Given the description of an element on the screen output the (x, y) to click on. 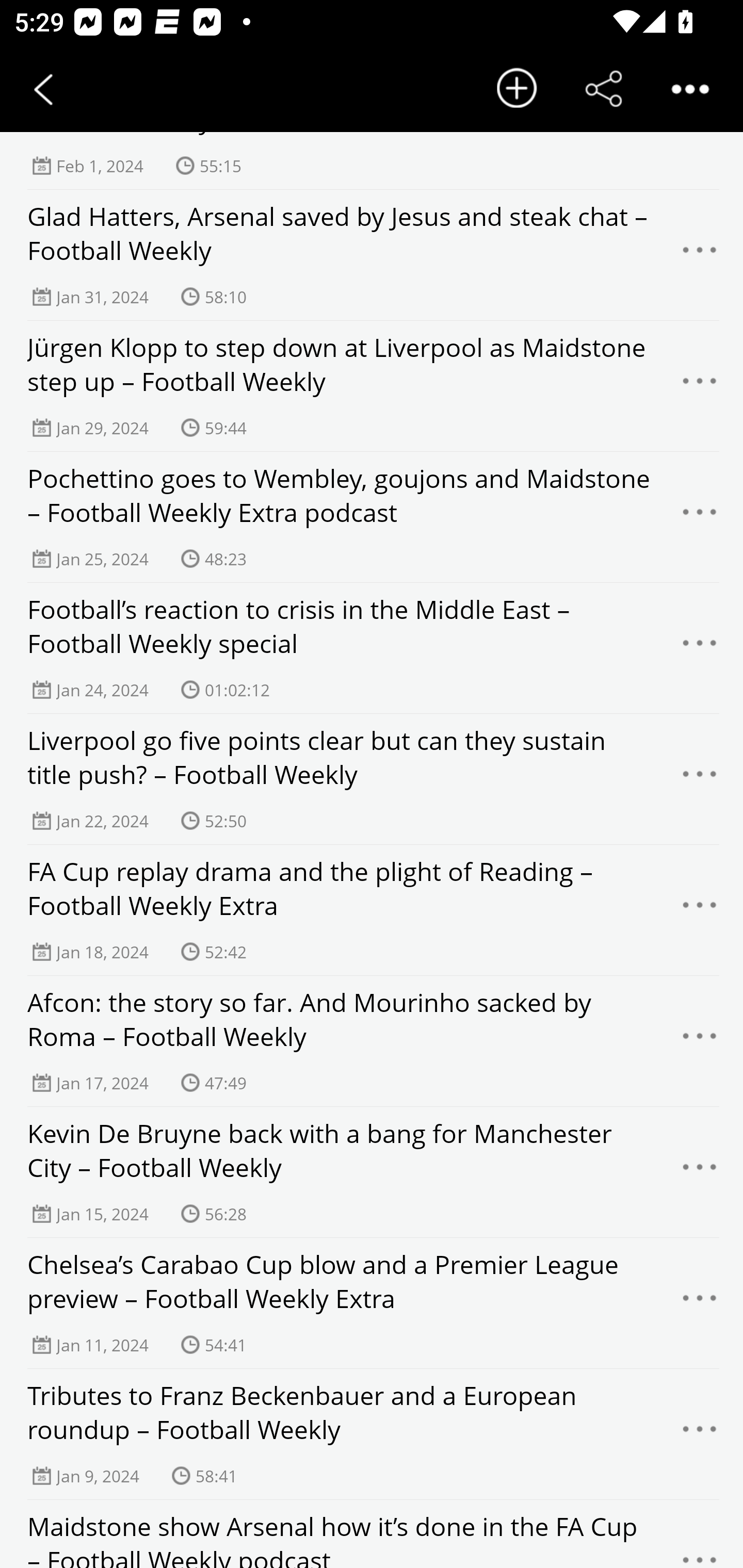
Back (43, 88)
Menu (699, 254)
Menu (699, 386)
Menu (699, 517)
Menu (699, 648)
Menu (699, 779)
Menu (699, 910)
Menu (699, 1041)
Menu (699, 1171)
Menu (699, 1303)
Menu (699, 1433)
Menu (699, 1545)
